Given the description of an element on the screen output the (x, y) to click on. 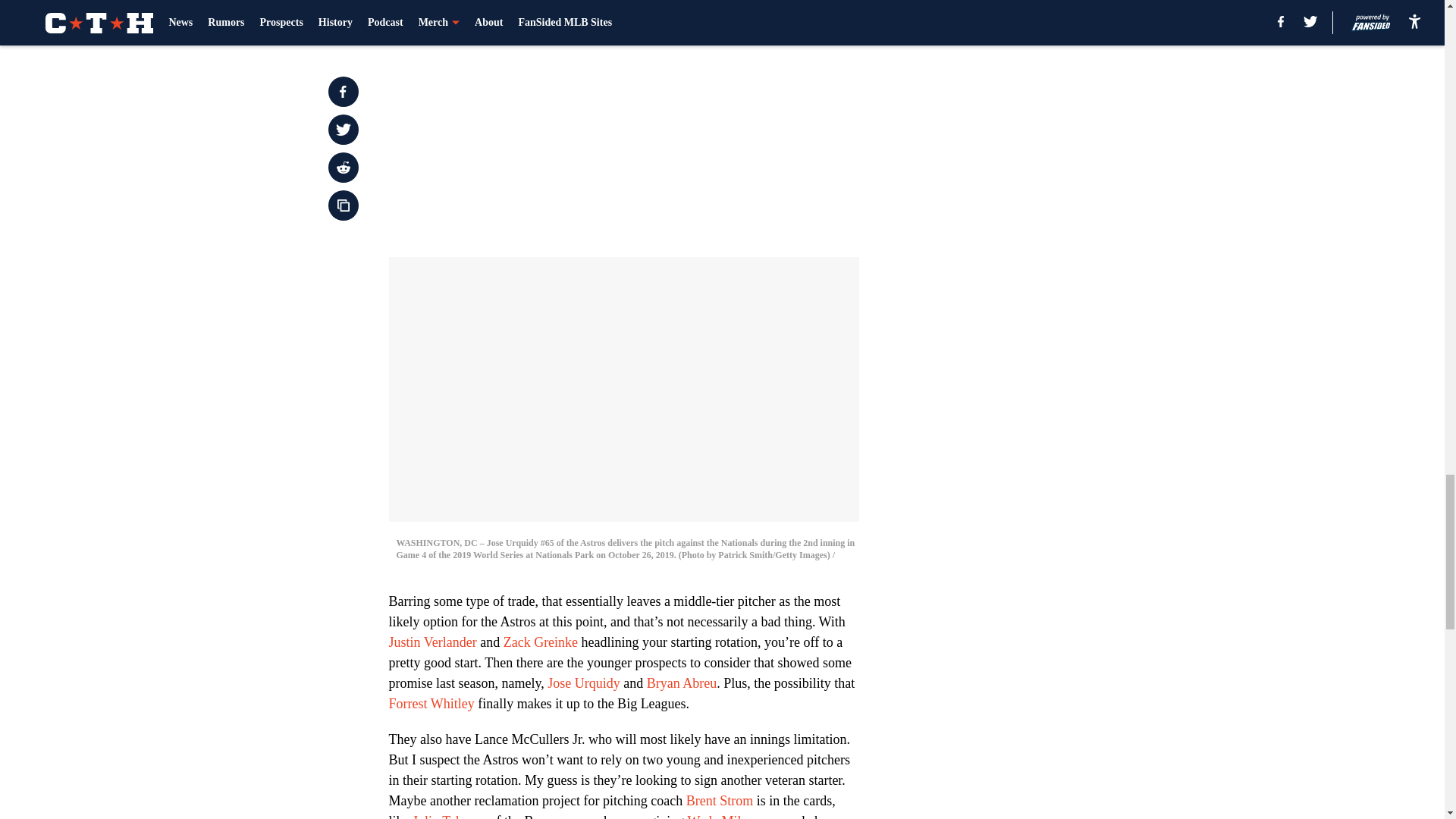
Brent Strom (719, 800)
Jose Urquidy (583, 683)
Julio Teheran (449, 816)
Bryan Abreu (681, 683)
Justin Verlander (432, 642)
Forrest Whitley (431, 703)
Zack Greinke (540, 642)
